Given the description of an element on the screen output the (x, y) to click on. 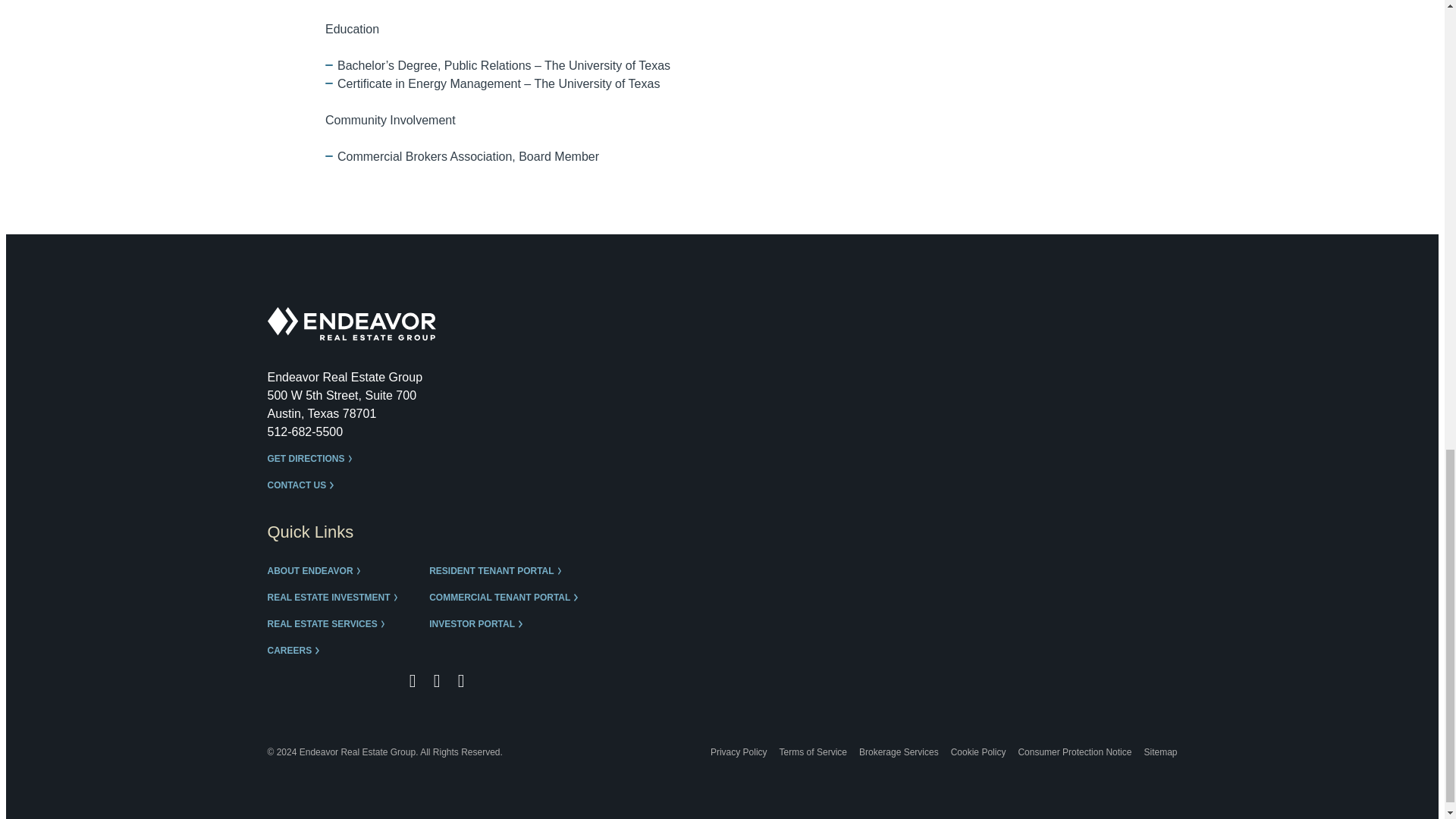
512-682-5500 (304, 431)
Terms of Service (812, 752)
INVESTOR PORTAL (479, 624)
GET DIRECTIONS (312, 459)
Facebook (412, 680)
COMMERCIAL TENANT PORTAL (507, 597)
Instagram (436, 680)
REAL ESTATE INVESTMENT (335, 597)
CAREERS (296, 651)
REAL ESTATE SERVICES (328, 624)
Consumer Protection Notice (1074, 752)
RESIDENT TENANT PORTAL (499, 571)
ABOUT ENDEAVOR (317, 571)
CONTACT US (303, 485)
Sitemap (1159, 752)
